Given the description of an element on the screen output the (x, y) to click on. 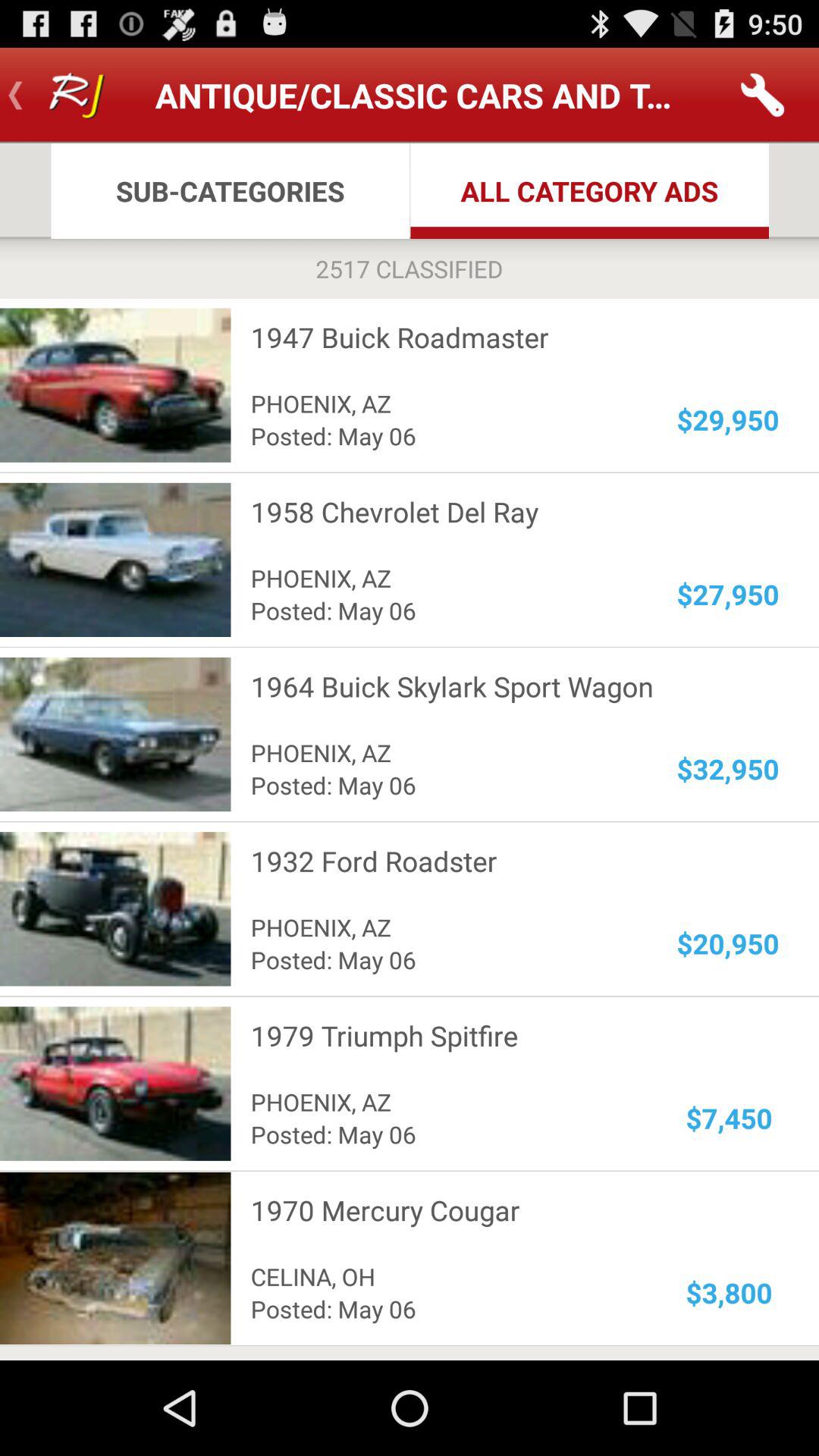
turn on item below 1970 mercury cougar (729, 1292)
